Given the description of an element on the screen output the (x, y) to click on. 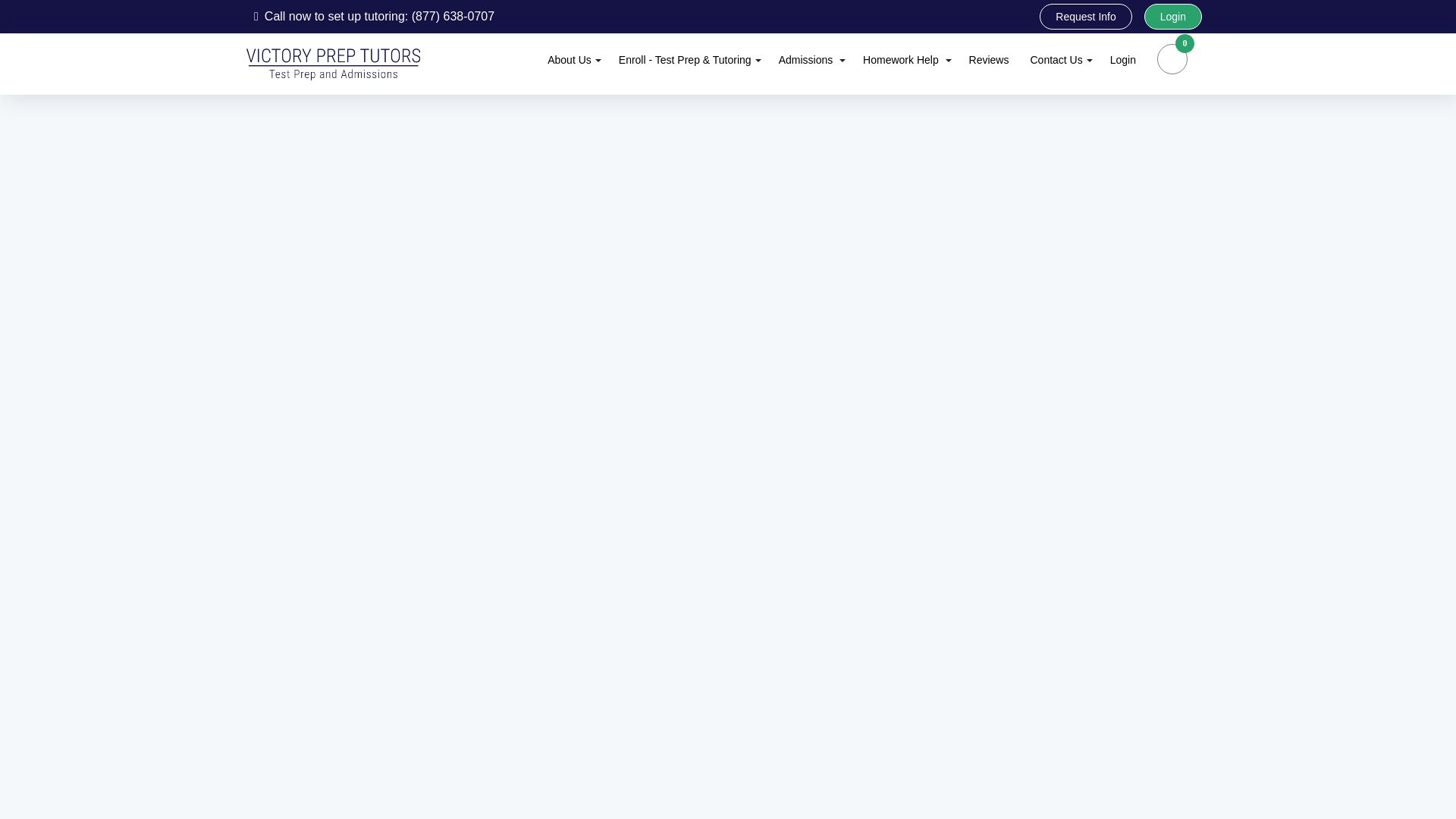
Reviews (989, 59)
0 (1172, 59)
Contact Us (1058, 59)
Homework Help (905, 59)
Request Info (1085, 16)
About Us (571, 59)
Admissions (809, 59)
Login (1173, 16)
